Given the description of an element on the screen output the (x, y) to click on. 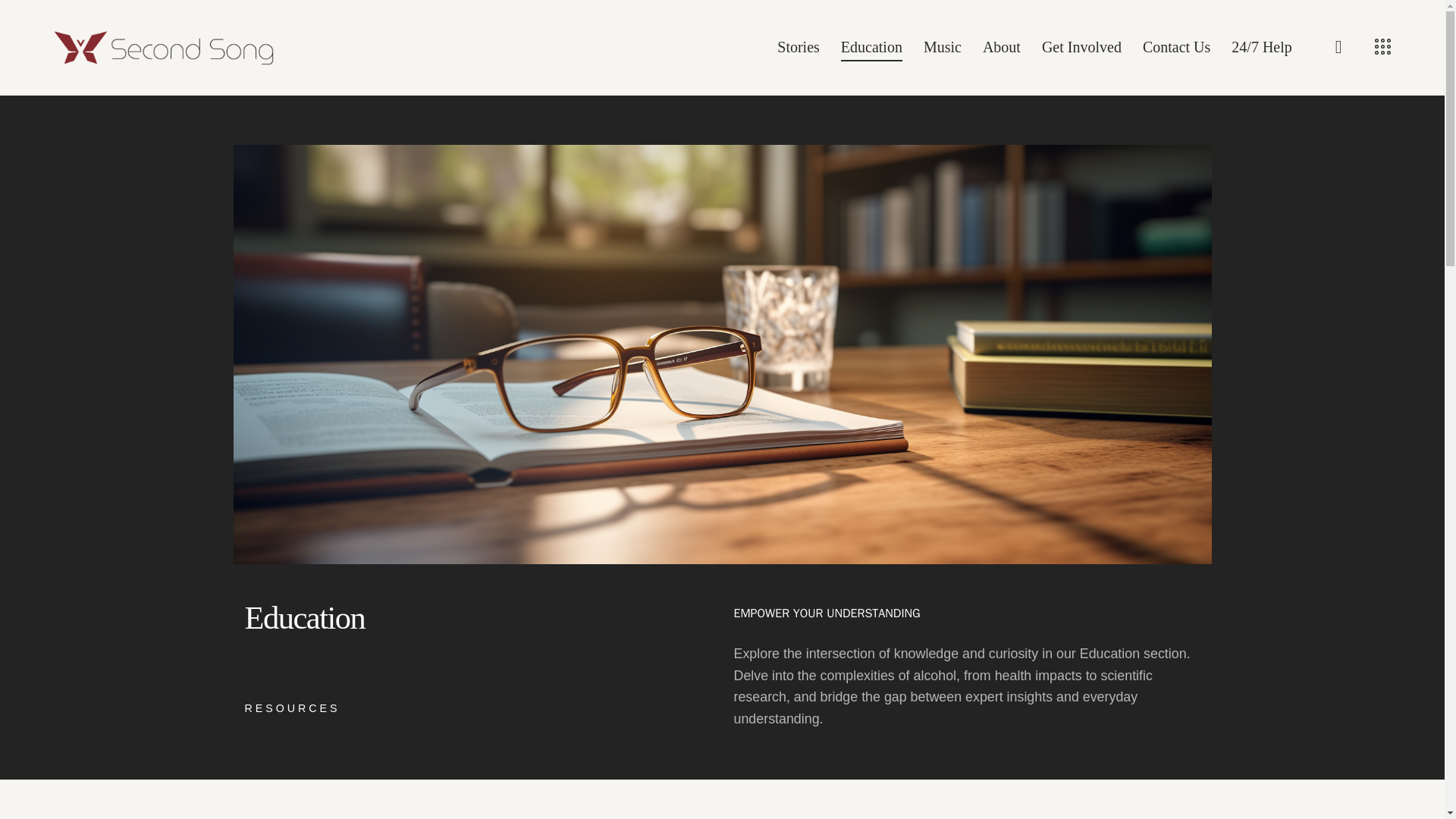
About (1001, 47)
Education (870, 47)
Contact Us (1176, 47)
Stories (798, 47)
Get Involved (1081, 47)
Music (942, 47)
